Given the description of an element on the screen output the (x, y) to click on. 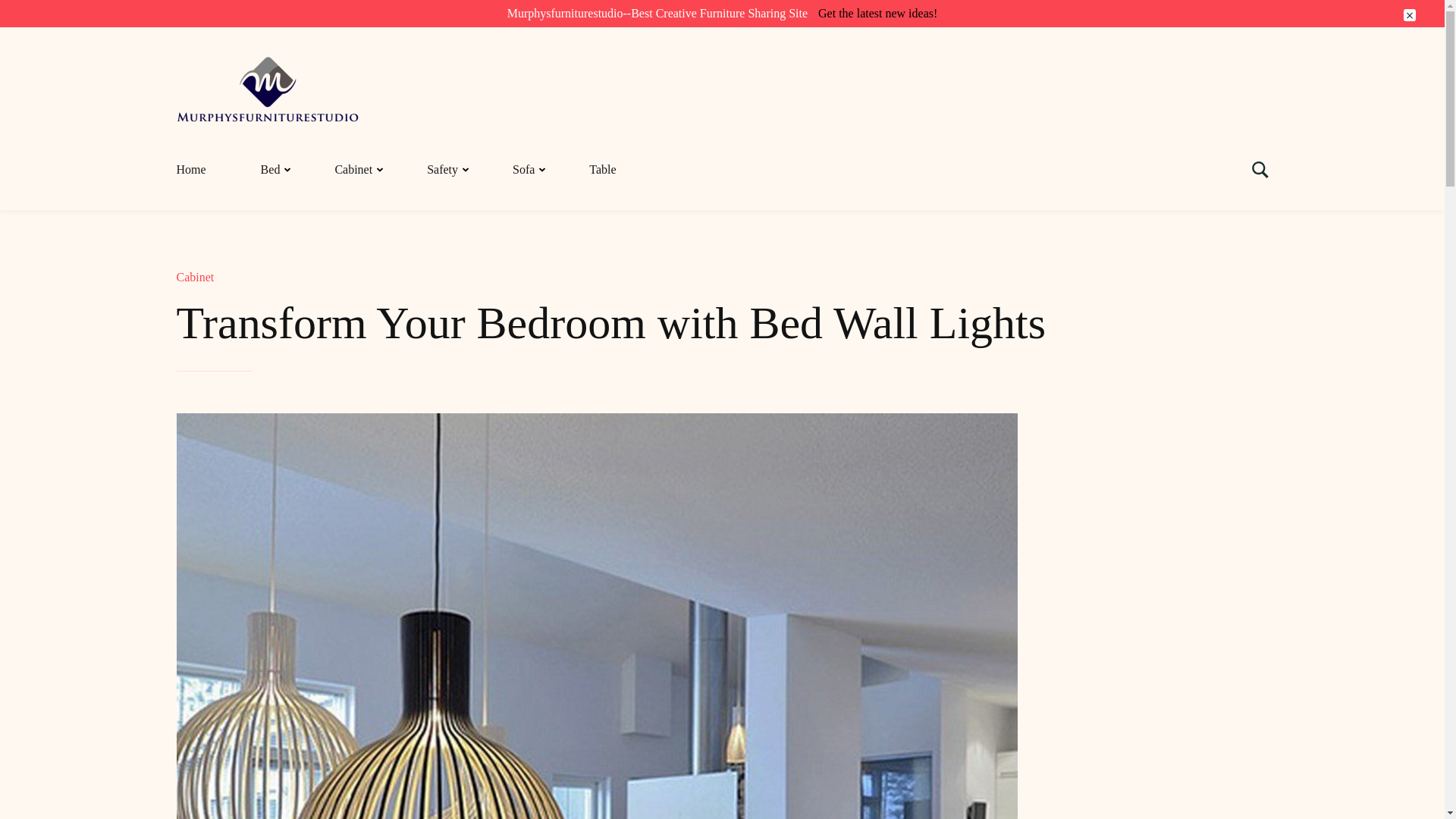
Murphysfurniturestudio (270, 65)
Table (602, 169)
Cabinet (352, 169)
Safety (441, 169)
Sofa (523, 169)
Cabinet (195, 277)
Bed (269, 169)
Home (204, 169)
Get the latest new ideas! (877, 13)
